Given the description of an element on the screen output the (x, y) to click on. 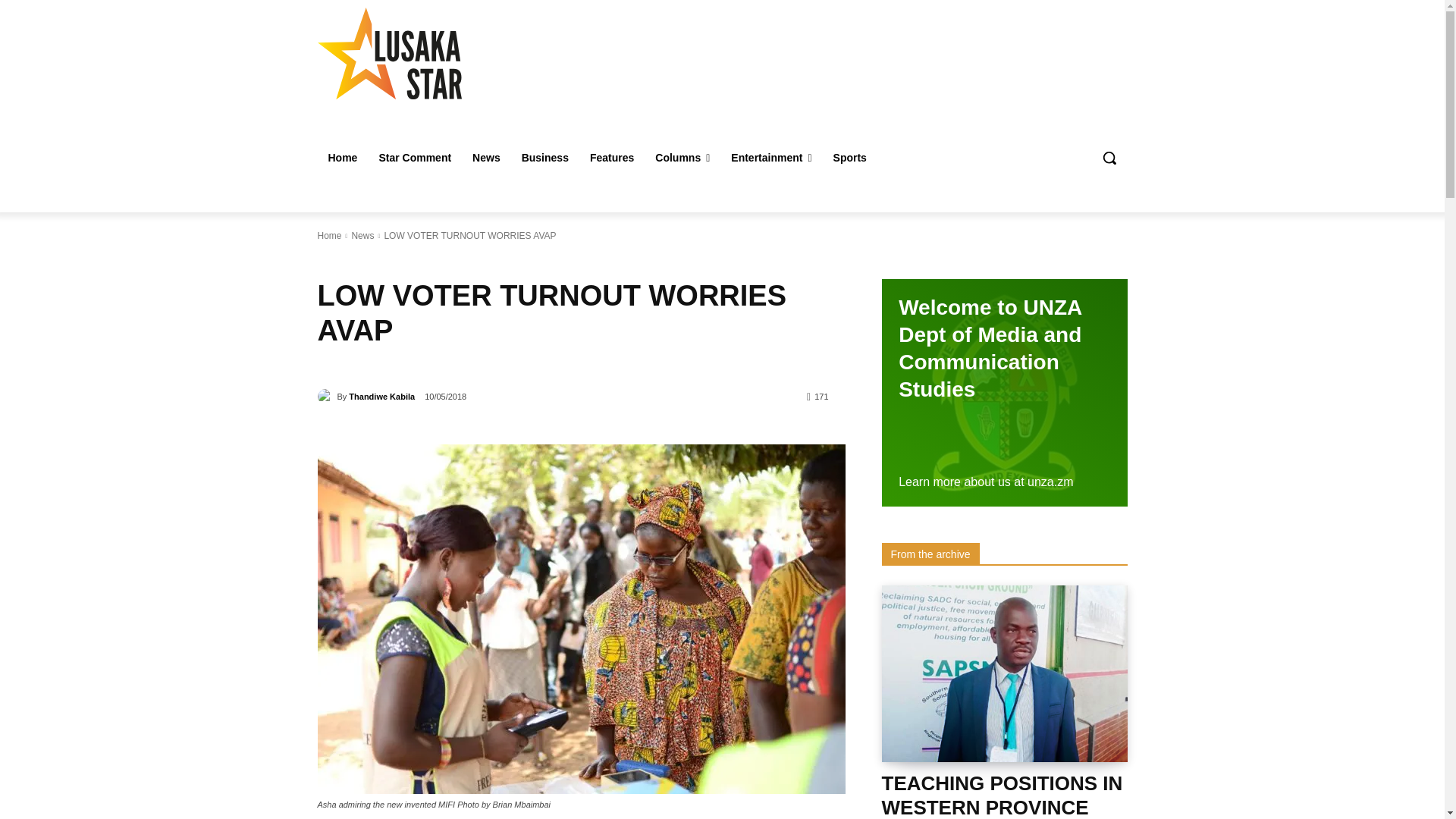
Columns (682, 157)
Sports (849, 157)
View all posts in News (362, 235)
Home (342, 157)
Entertainment (771, 157)
Business (545, 157)
Thandiwe Kabila (326, 396)
News (486, 157)
Features (612, 157)
Star Comment (414, 157)
Lusaka Star - Service with Excellence  (425, 53)
